Given the description of an element on the screen output the (x, y) to click on. 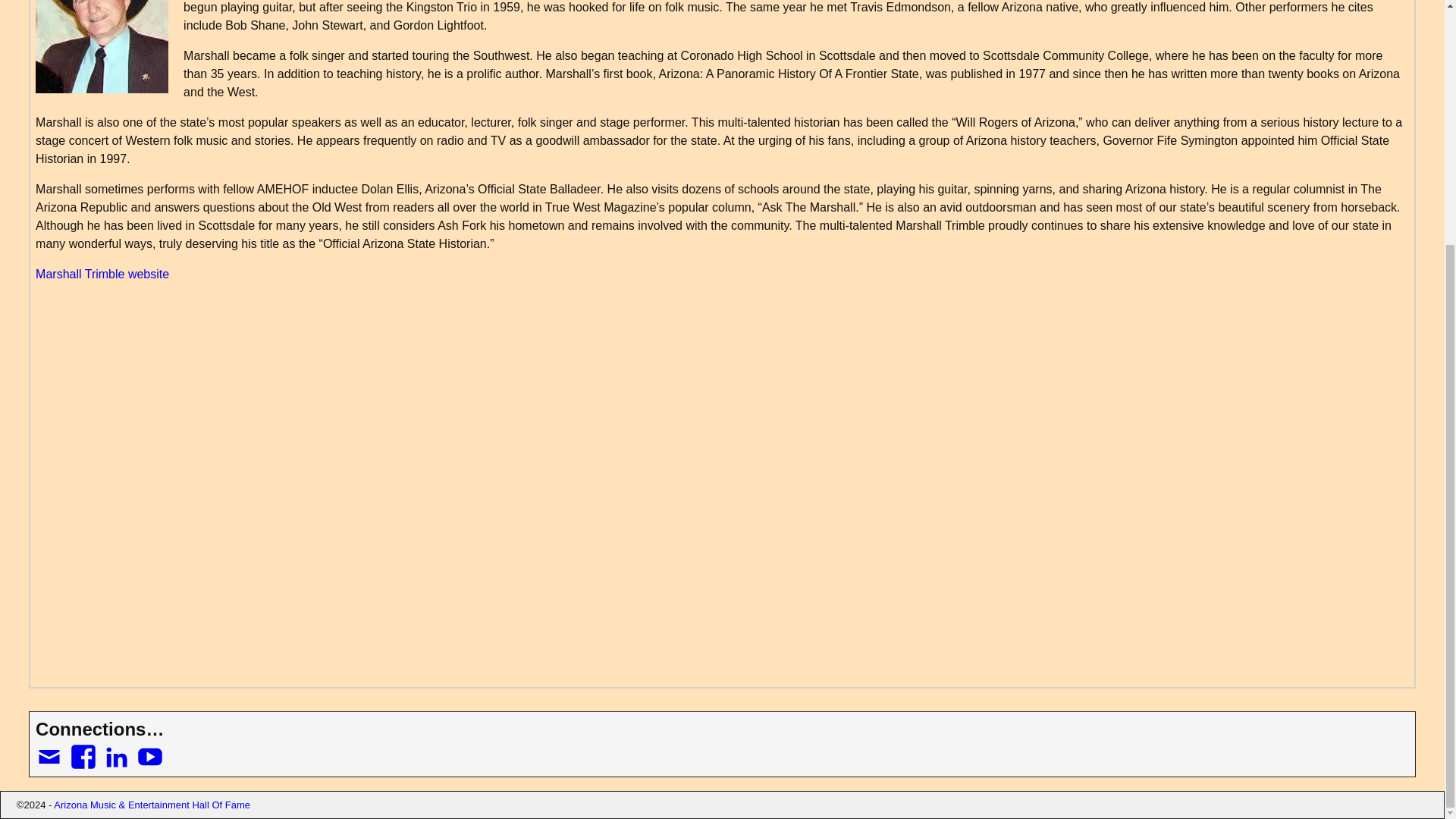
LinkedIn: Professional contact information (118, 749)
Facebook: social networking (84, 749)
Send Email to this Site's Admin (49, 749)
YouTube: video sharing (151, 749)
Marshall Trimble website (101, 273)
